Given the description of an element on the screen output the (x, y) to click on. 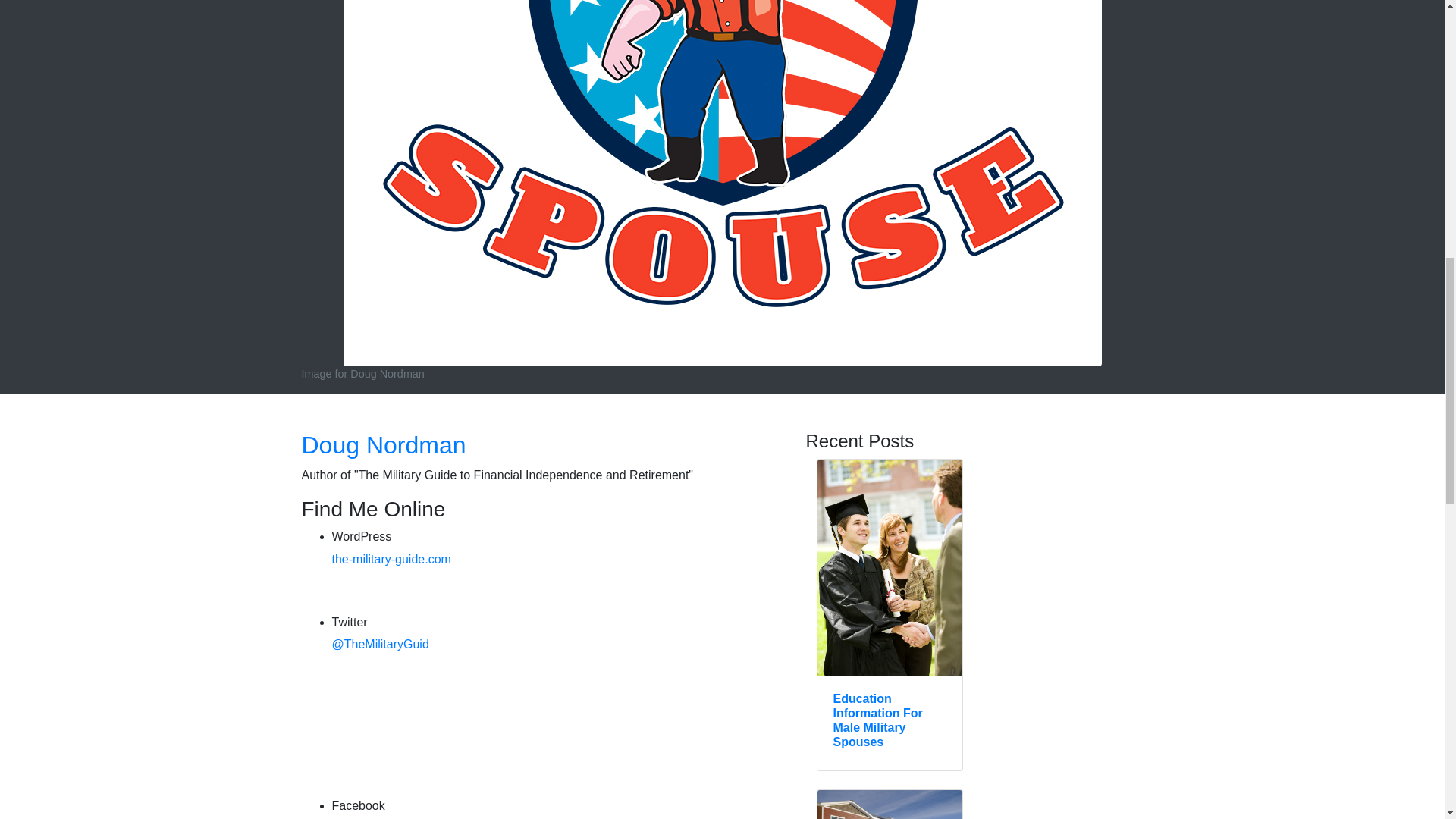
Twitter Follow Button (445, 722)
the-military-guide.com (391, 558)
Doug Nordman (383, 444)
Housing and Home Ownership Information and Resources (889, 804)
